Given the description of an element on the screen output the (x, y) to click on. 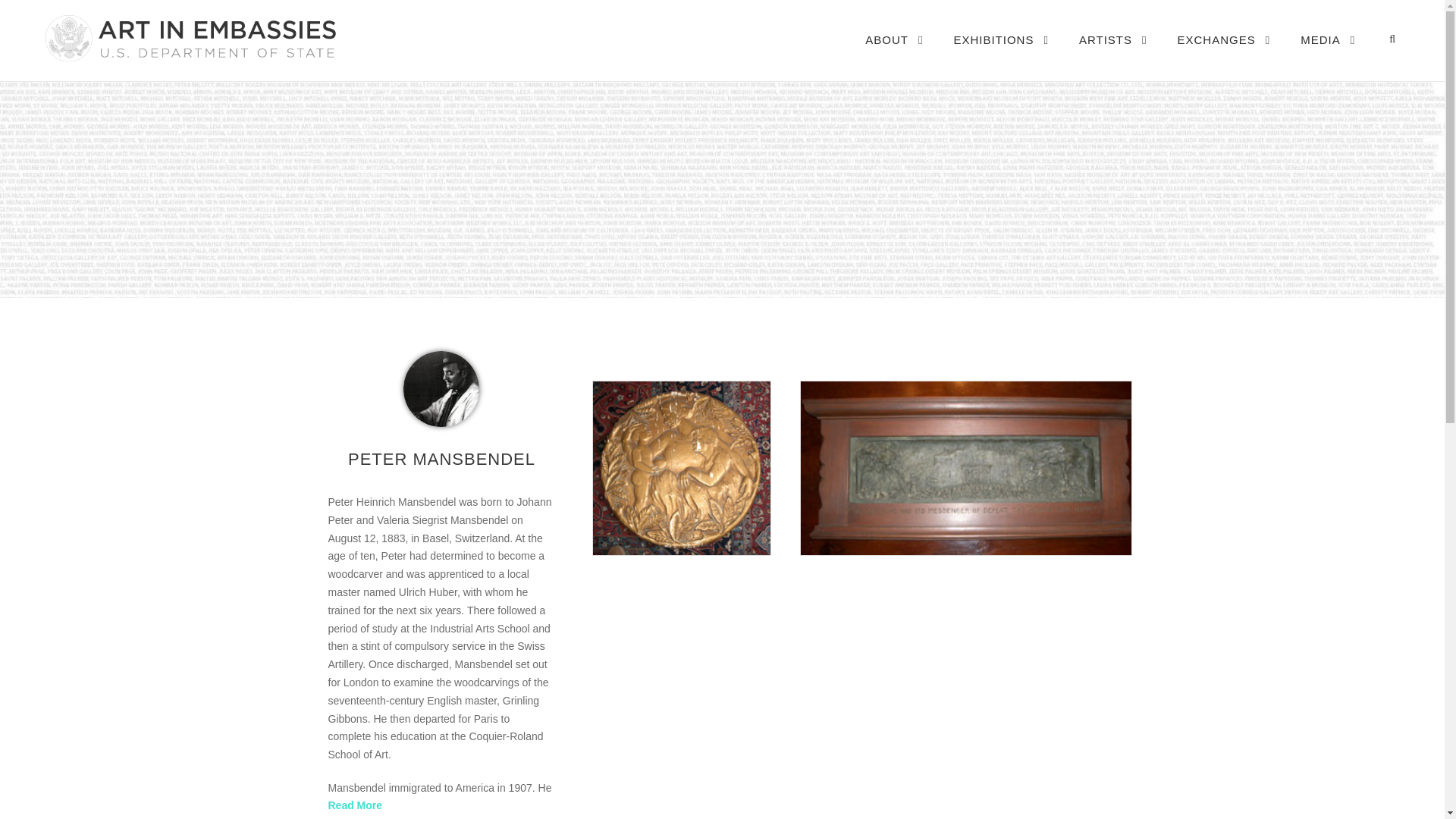
ARTISTS (1112, 55)
MEDIA (1327, 55)
Read More (354, 805)
aie logo3 (188, 38)
EXHIBITIONS (1000, 55)
7842 (441, 388)
EXCHANGES (1224, 55)
ABOUT (893, 55)
